Given the description of an element on the screen output the (x, y) to click on. 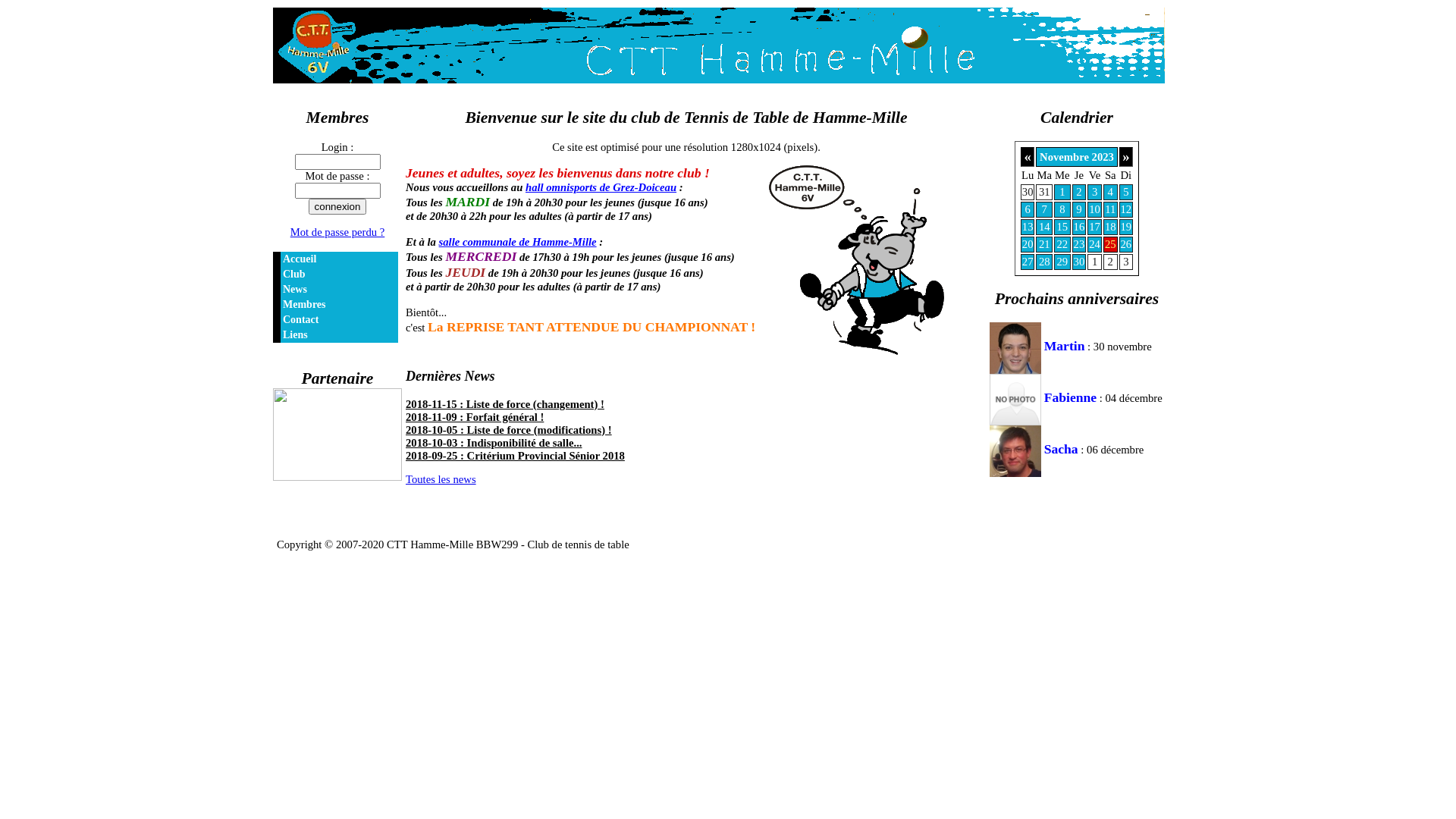
connexion Element type: text (337, 206)
2018-11-15 : Liste de force (changement) ! Element type: text (504, 404)
Mot de passe perdu ? Element type: text (337, 231)
Membres Element type: text (335, 304)
Club Element type: text (335, 274)
Liens Element type: text (335, 334)
Toutes les news Element type: text (440, 479)
Contact Element type: text (335, 319)
2018-10-05 : Liste de force (modifications) ! Element type: text (508, 429)
News Element type: text (335, 289)
Accueil Element type: text (335, 258)
